Given the description of an element on the screen output the (x, y) to click on. 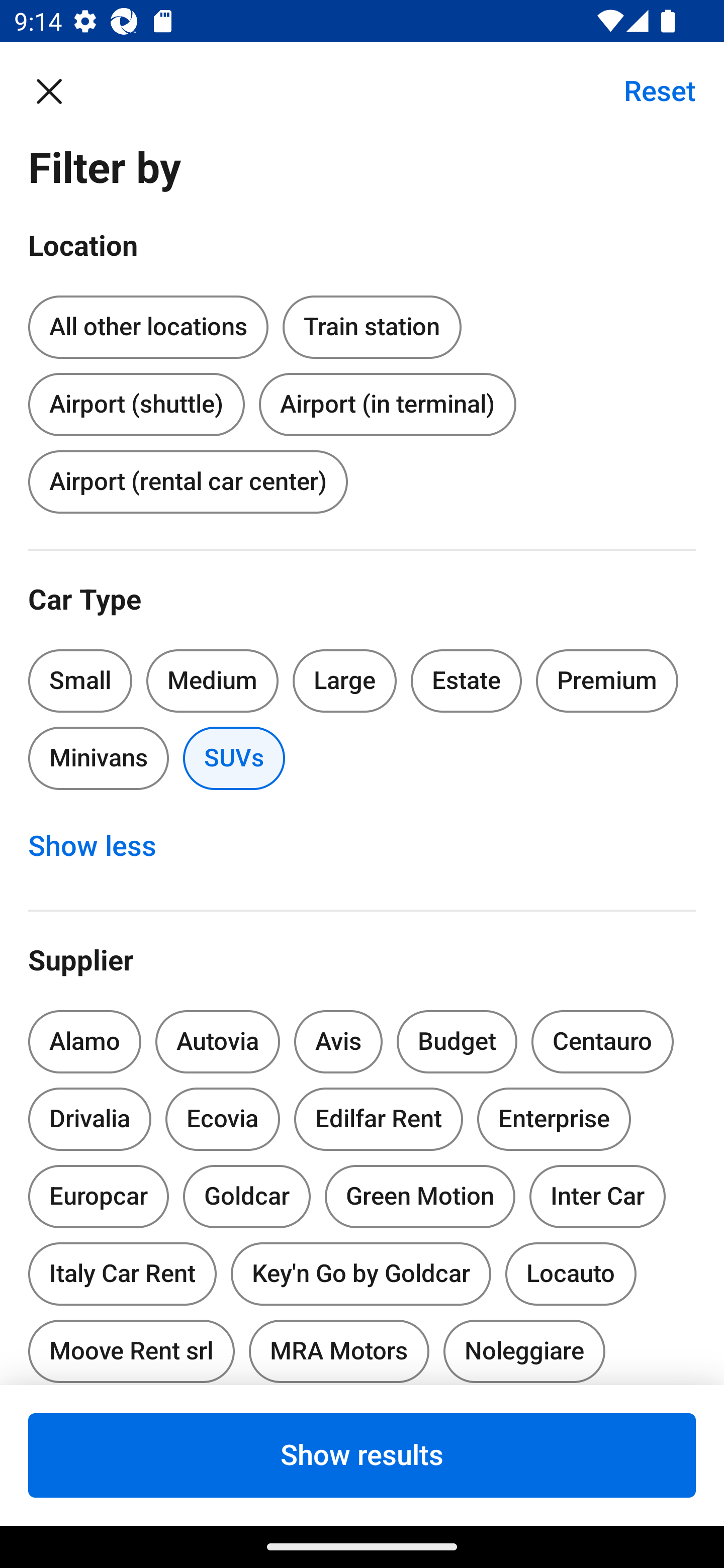
Close (59, 90)
Reset (649, 90)
All other locations (148, 327)
Train station (371, 323)
Airport (shuttle) (136, 400)
Airport (in terminal) (387, 404)
Airport (rental car center) (187, 481)
Small (80, 680)
Medium (212, 680)
Large (344, 680)
Estate (466, 680)
Premium (606, 680)
Minivans (98, 758)
Show less (102, 846)
Alamo (84, 1041)
Autovia (217, 1041)
Avis (338, 1041)
Budget (456, 1041)
Centauro (602, 1041)
Drivalia (89, 1119)
Ecovia (222, 1119)
Edilfar Rent (377, 1119)
Enterprise (553, 1119)
Europcar (98, 1193)
Goldcar (246, 1196)
Green Motion (420, 1196)
Inter Car (597, 1196)
Italy Car Rent (122, 1270)
Key'n Go by Goldcar (360, 1273)
Locauto (570, 1273)
Moove Rent srl (131, 1346)
MRA Motors (339, 1346)
Noleggiare (524, 1346)
Show results (361, 1454)
